Given the description of an element on the screen output the (x, y) to click on. 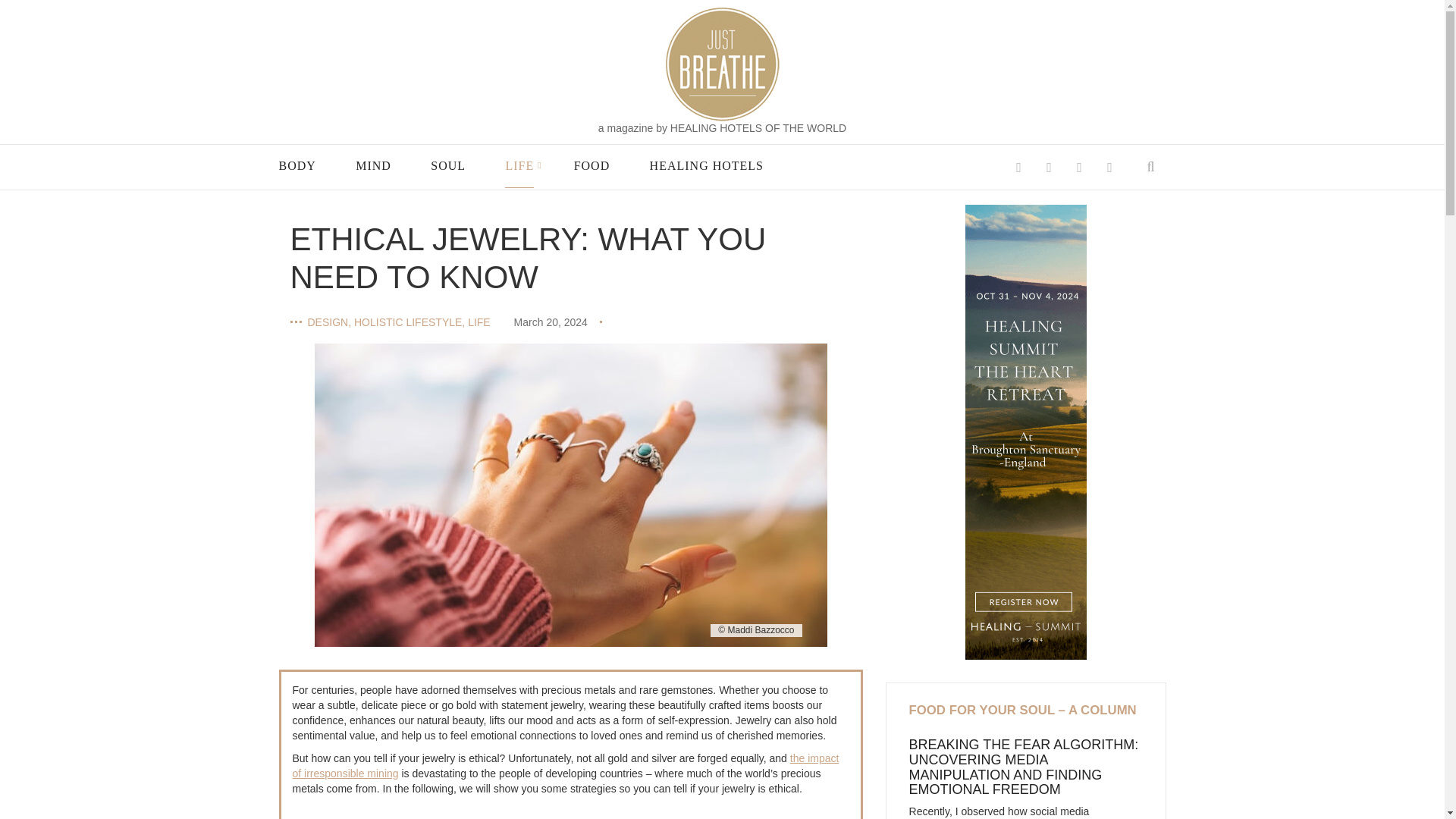
SOUL (447, 166)
MIND (373, 166)
BODY (297, 166)
a magazine by HEALING HOTELS OF THE WORLD (722, 128)
LIFE (519, 166)
FOOD (591, 166)
HEALING HOTELS (705, 166)
